Given the description of an element on the screen output the (x, y) to click on. 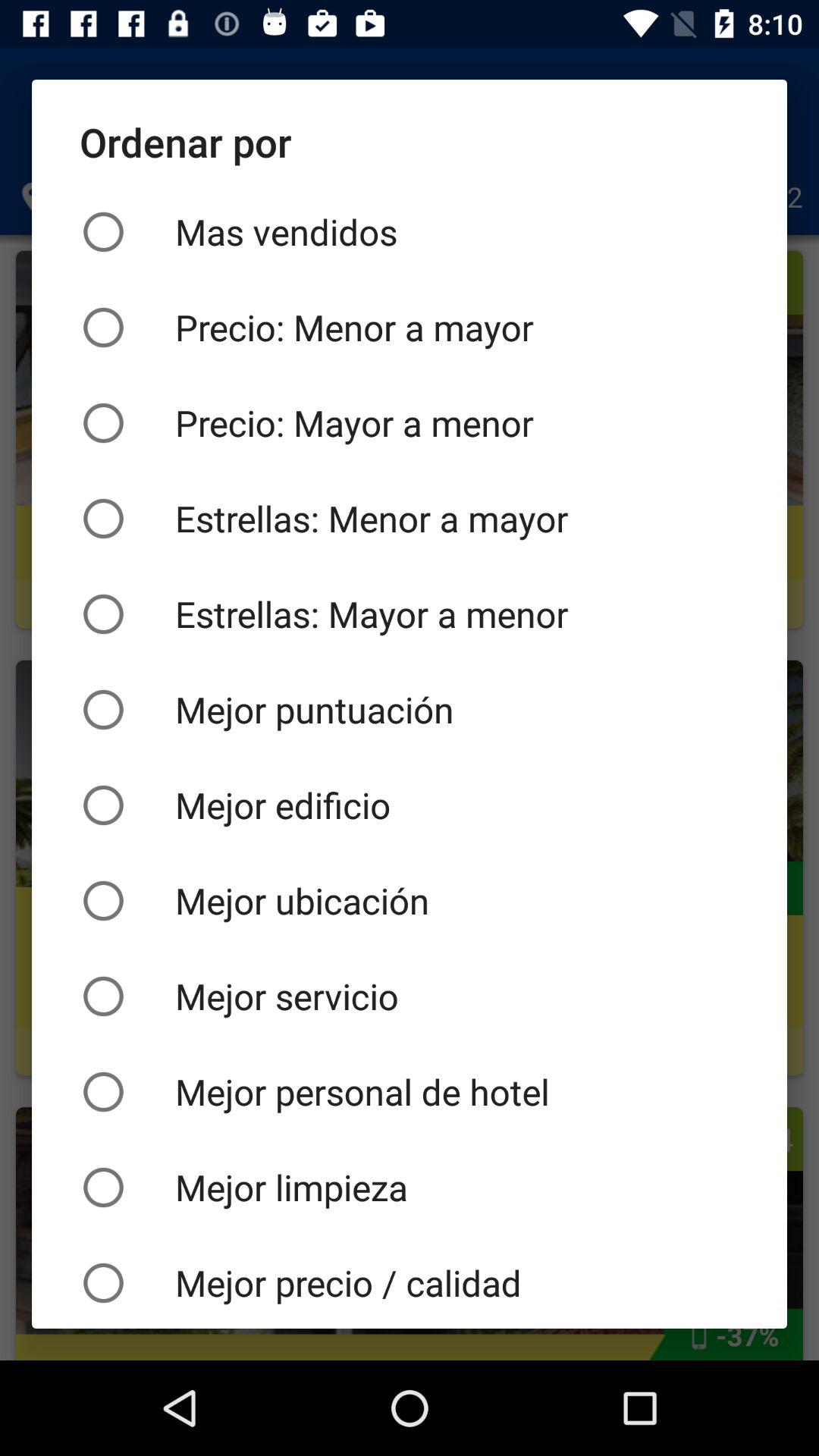
swipe until the mejor personal de (409, 1091)
